Given the description of an element on the screen output the (x, y) to click on. 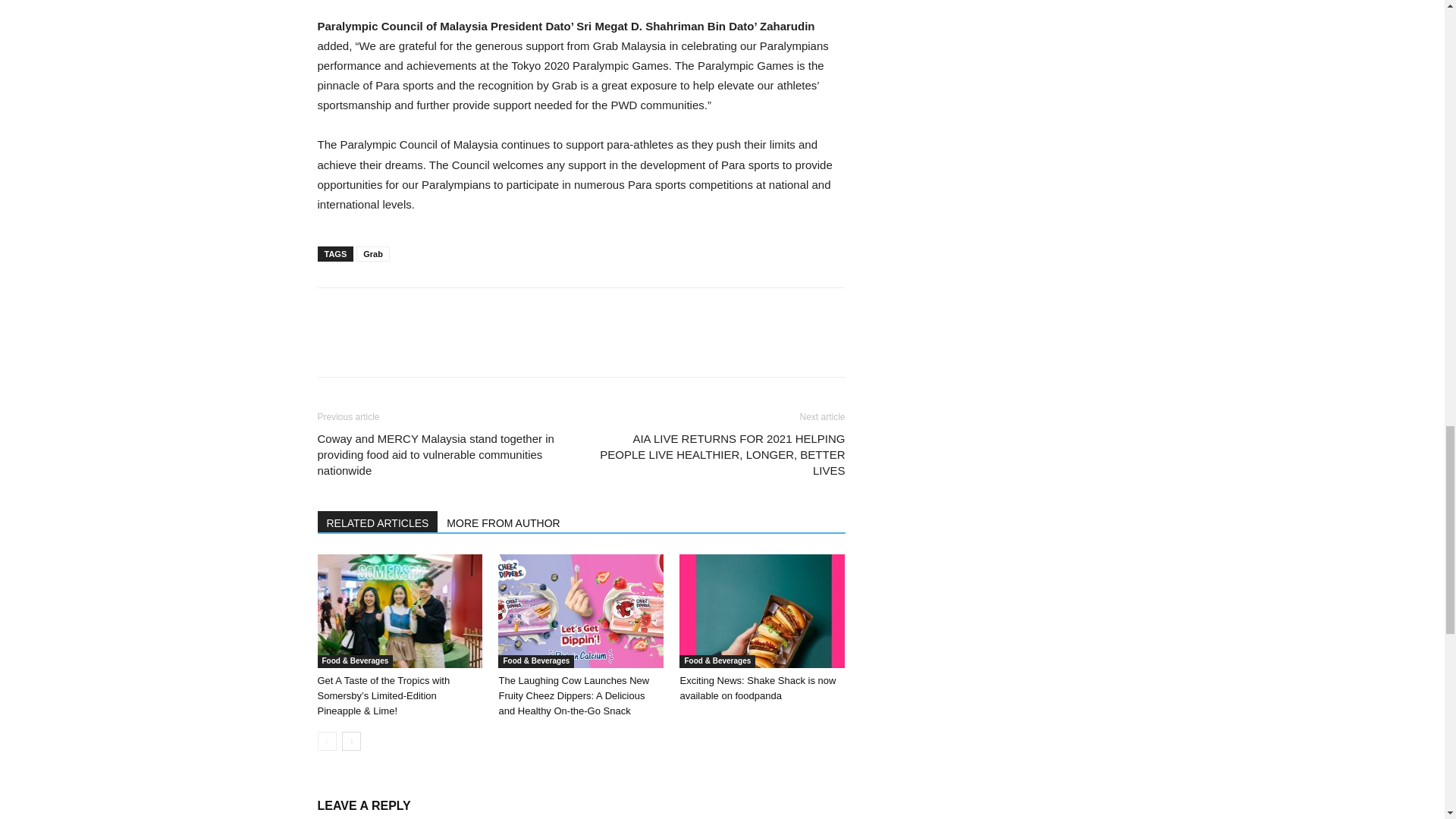
Grab (373, 253)
RELATED ARTICLES (377, 521)
